Given the description of an element on the screen output the (x, y) to click on. 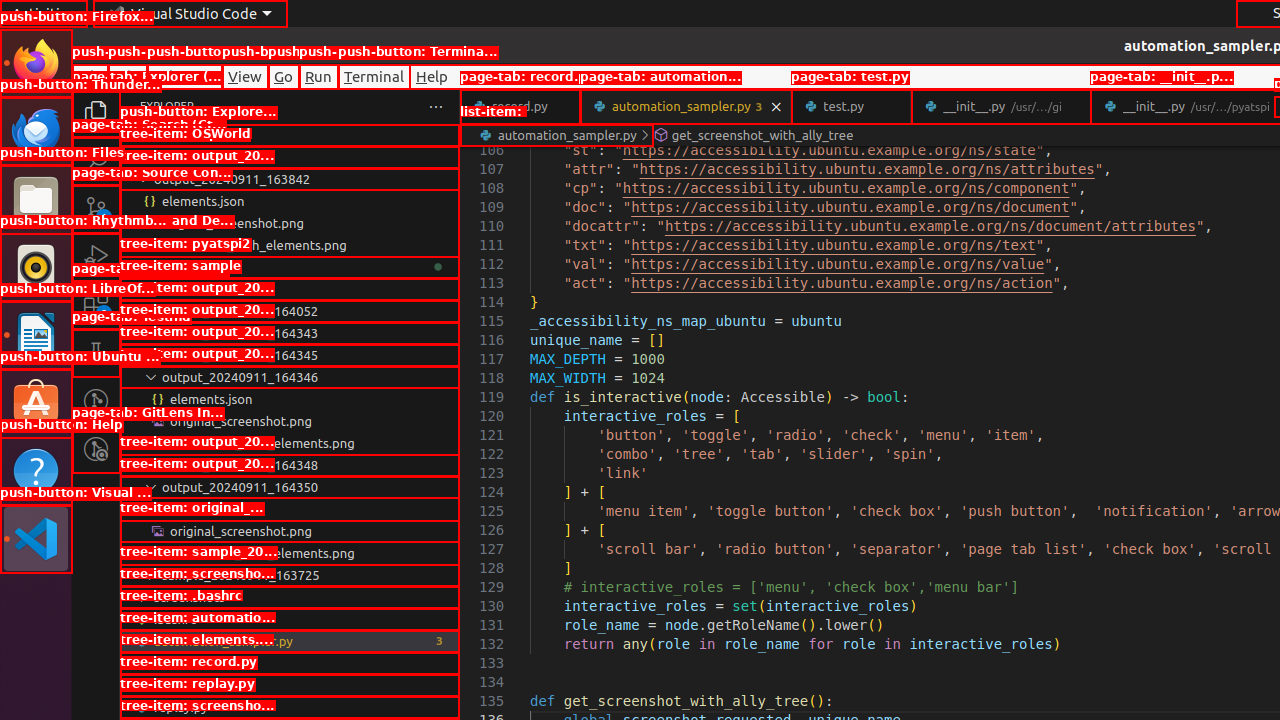
.bashrc Element type: tree-item (289, 619)
output_20240911_164052 Element type: tree-item (289, 311)
pyatspi2 Element type: tree-item (289, 267)
